Given the description of an element on the screen output the (x, y) to click on. 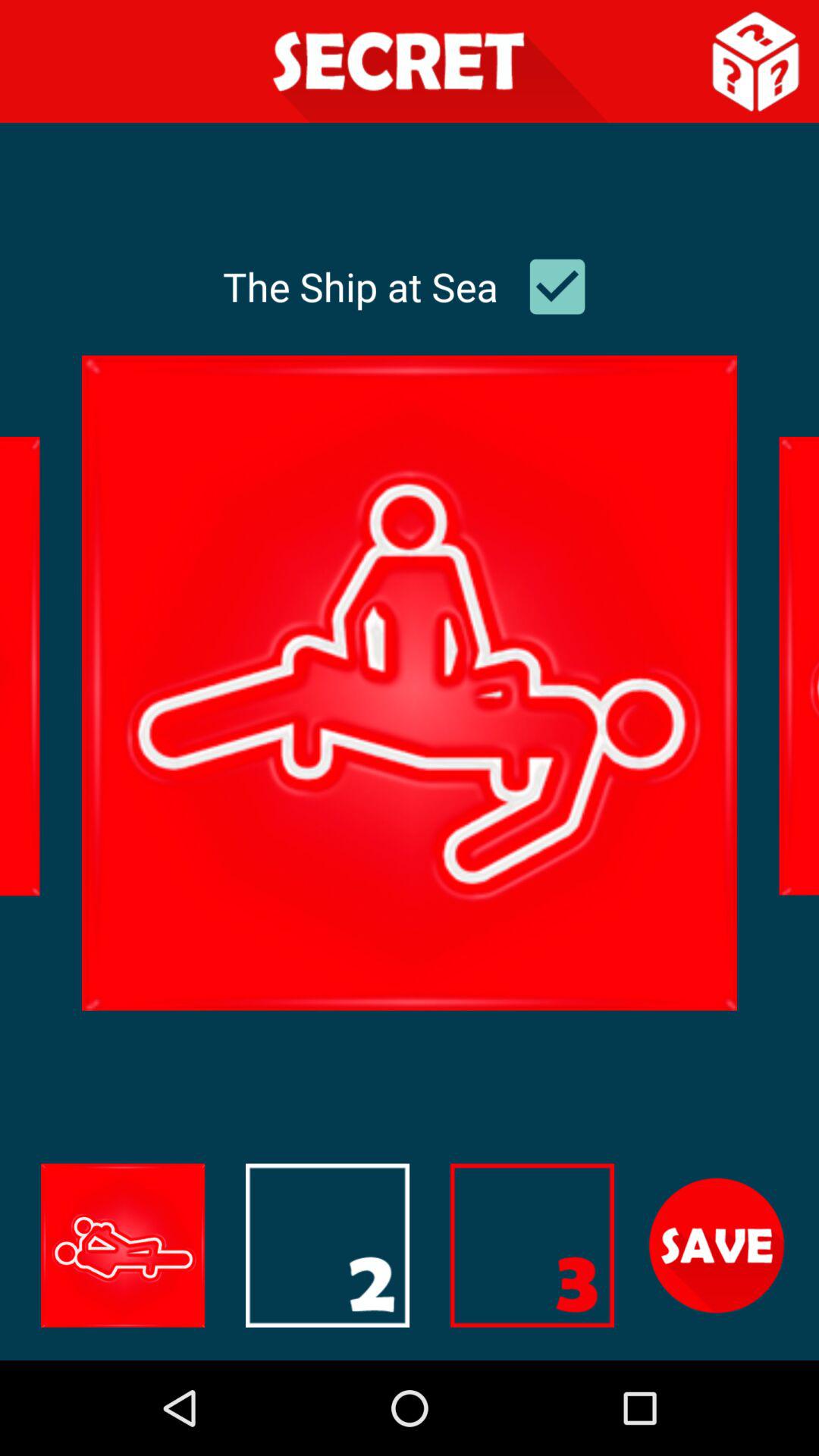
check the item (557, 286)
